Given the description of an element on the screen output the (x, y) to click on. 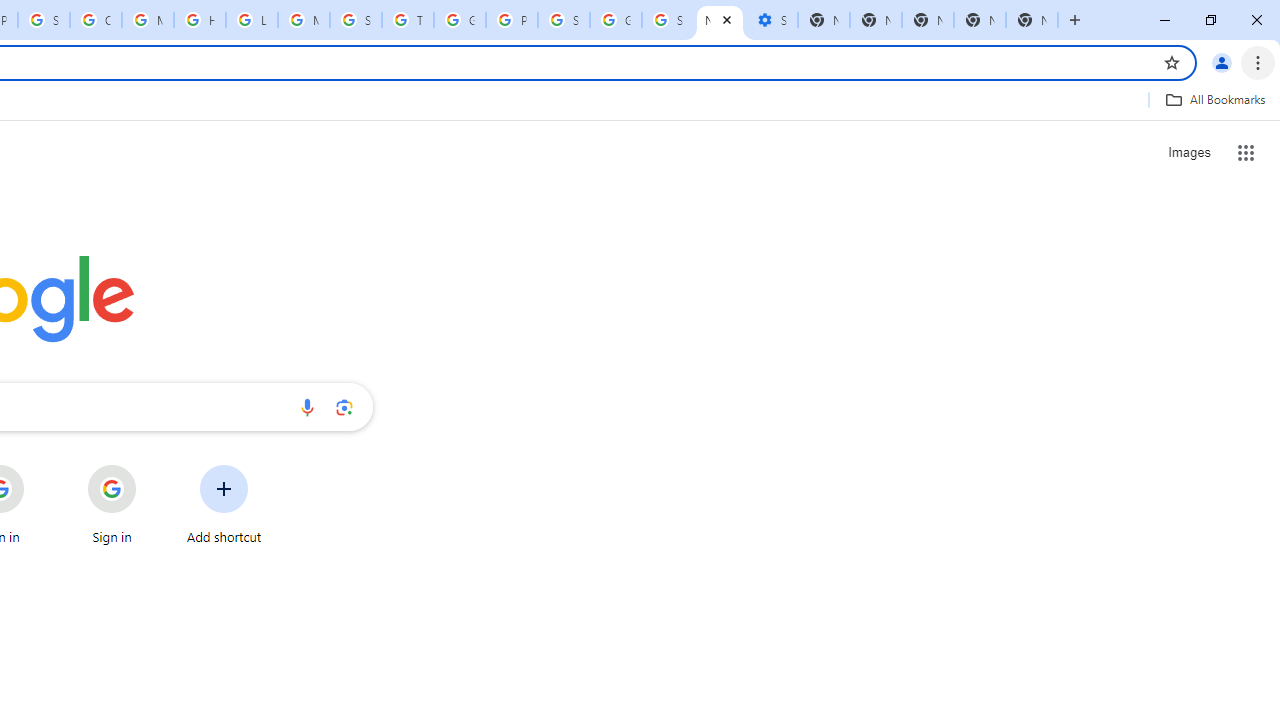
More actions for Sign in shortcut (152, 466)
Search for Images  (1188, 152)
